Given the description of an element on the screen output the (x, y) to click on. 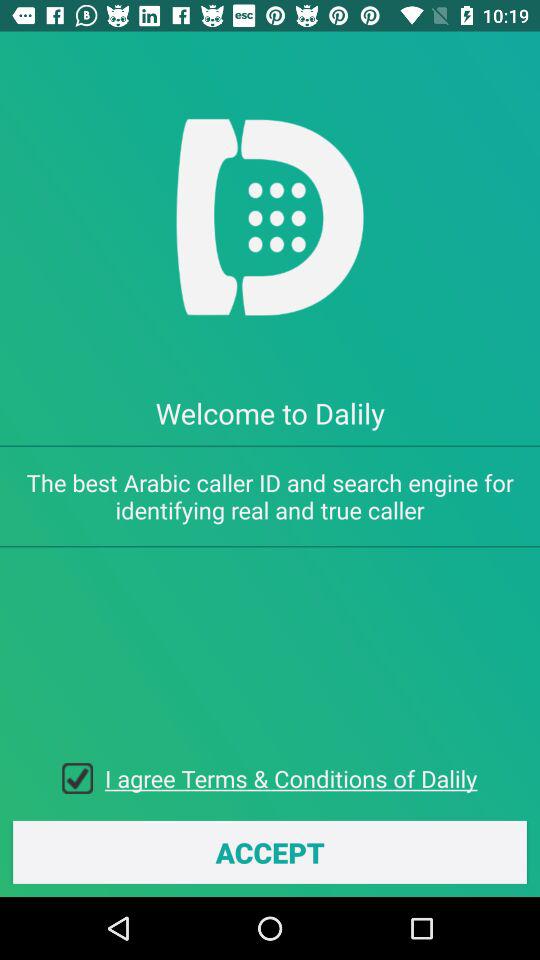
select icon above the accept icon (83, 778)
